Given the description of an element on the screen output the (x, y) to click on. 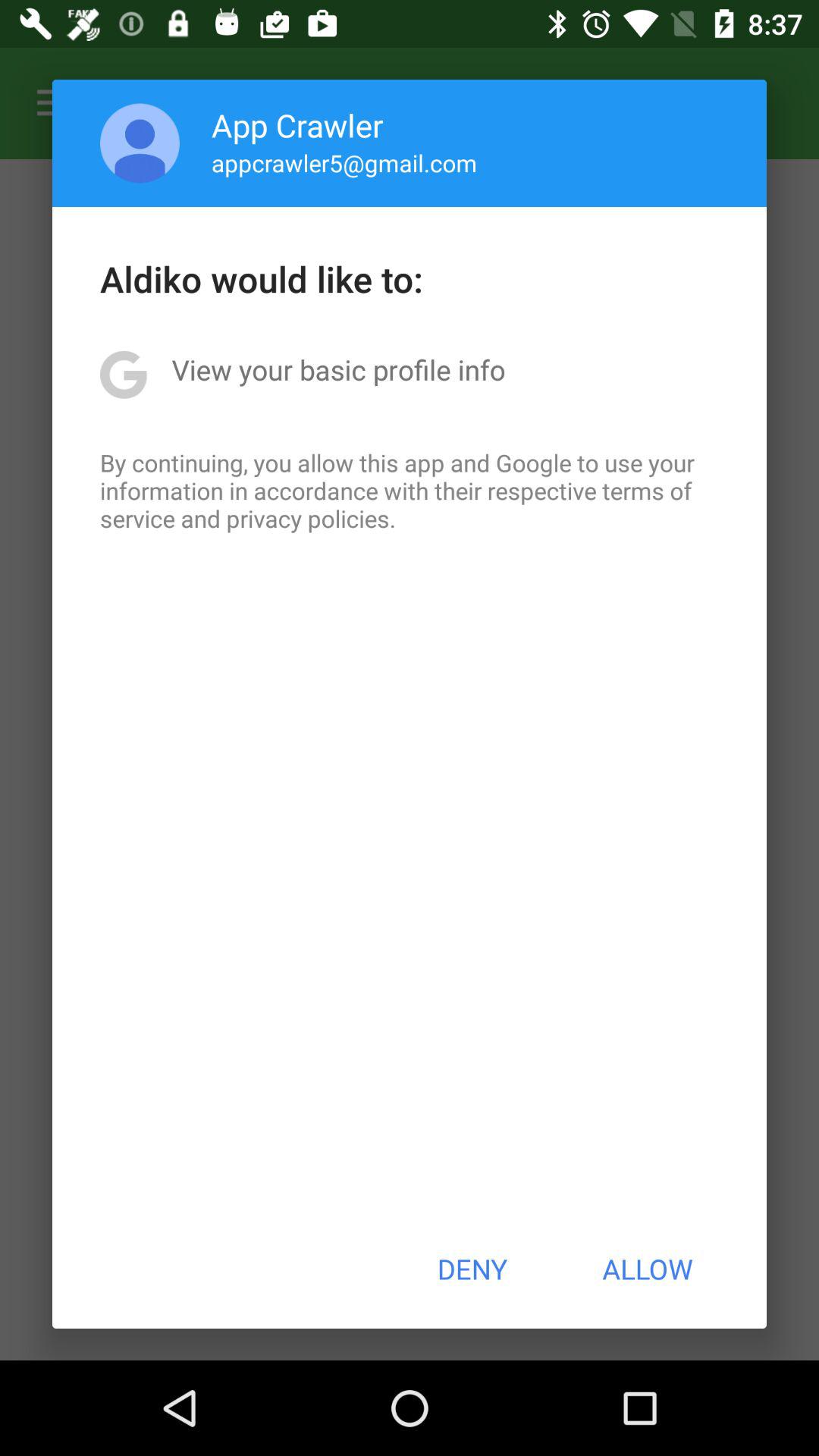
turn on app below the aldiko would like item (338, 369)
